Given the description of an element on the screen output the (x, y) to click on. 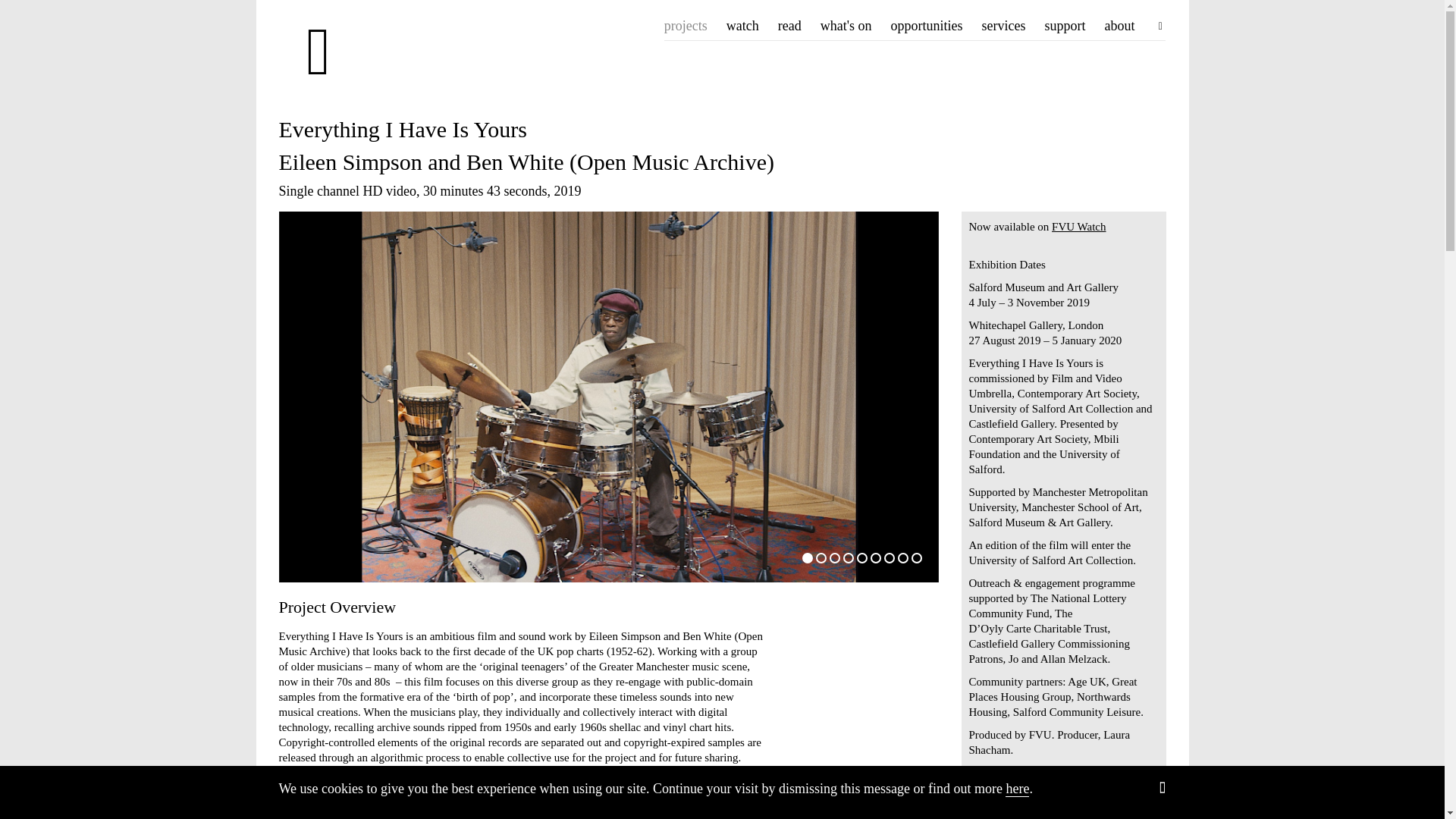
what's on (846, 25)
9 (916, 557)
7 (889, 557)
about (1118, 25)
1 (807, 557)
3 (834, 557)
8 (903, 557)
6 (875, 557)
projects (685, 25)
2 (821, 557)
FVU Watch (1078, 226)
5 (862, 557)
Film and Video Umbrella (362, 52)
4 (848, 557)
services (1003, 25)
